Given the description of an element on the screen output the (x, y) to click on. 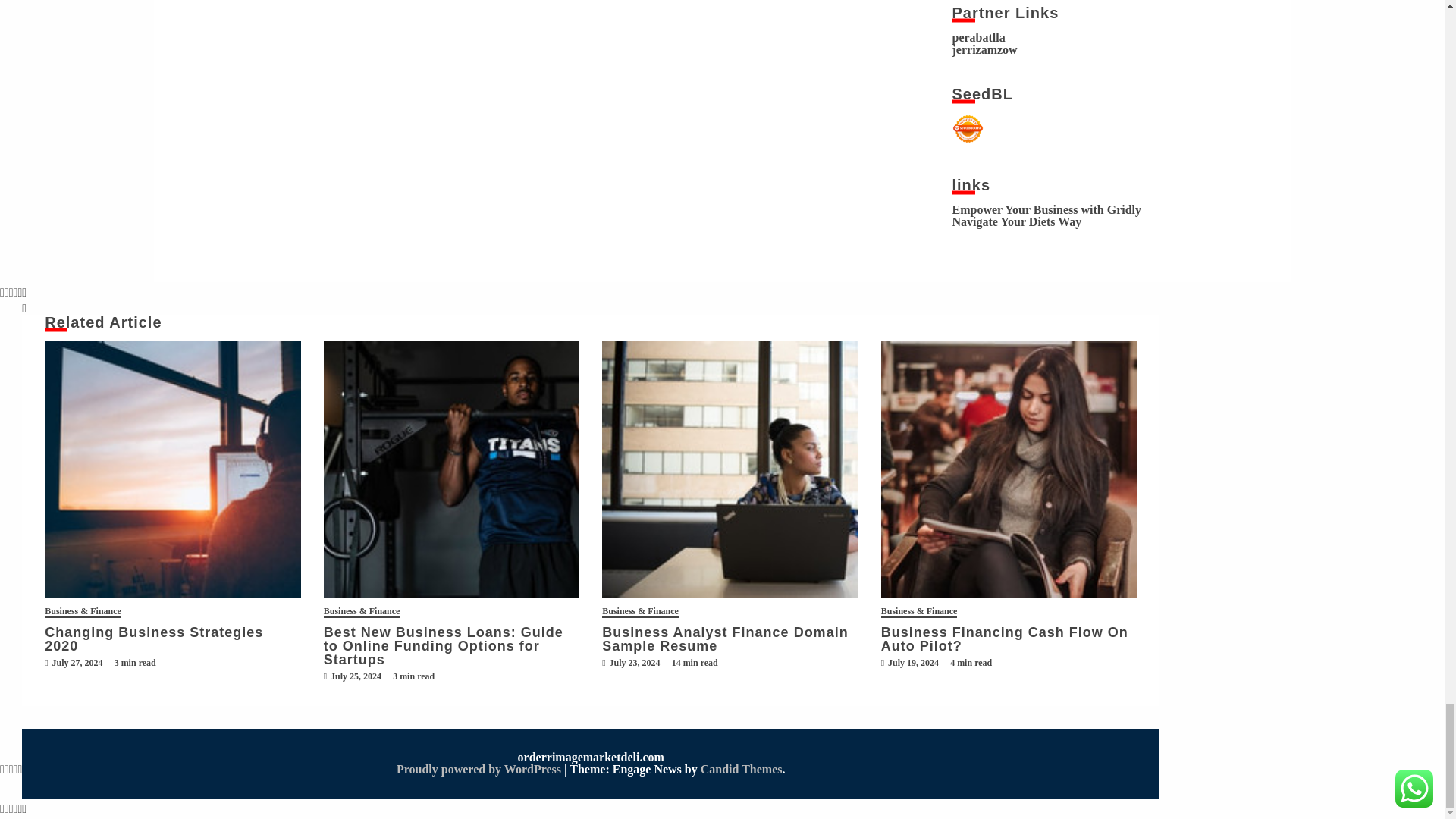
Seedbacklink (968, 128)
Changing Business Strategies 2020 (173, 469)
